Given the description of an element on the screen output the (x, y) to click on. 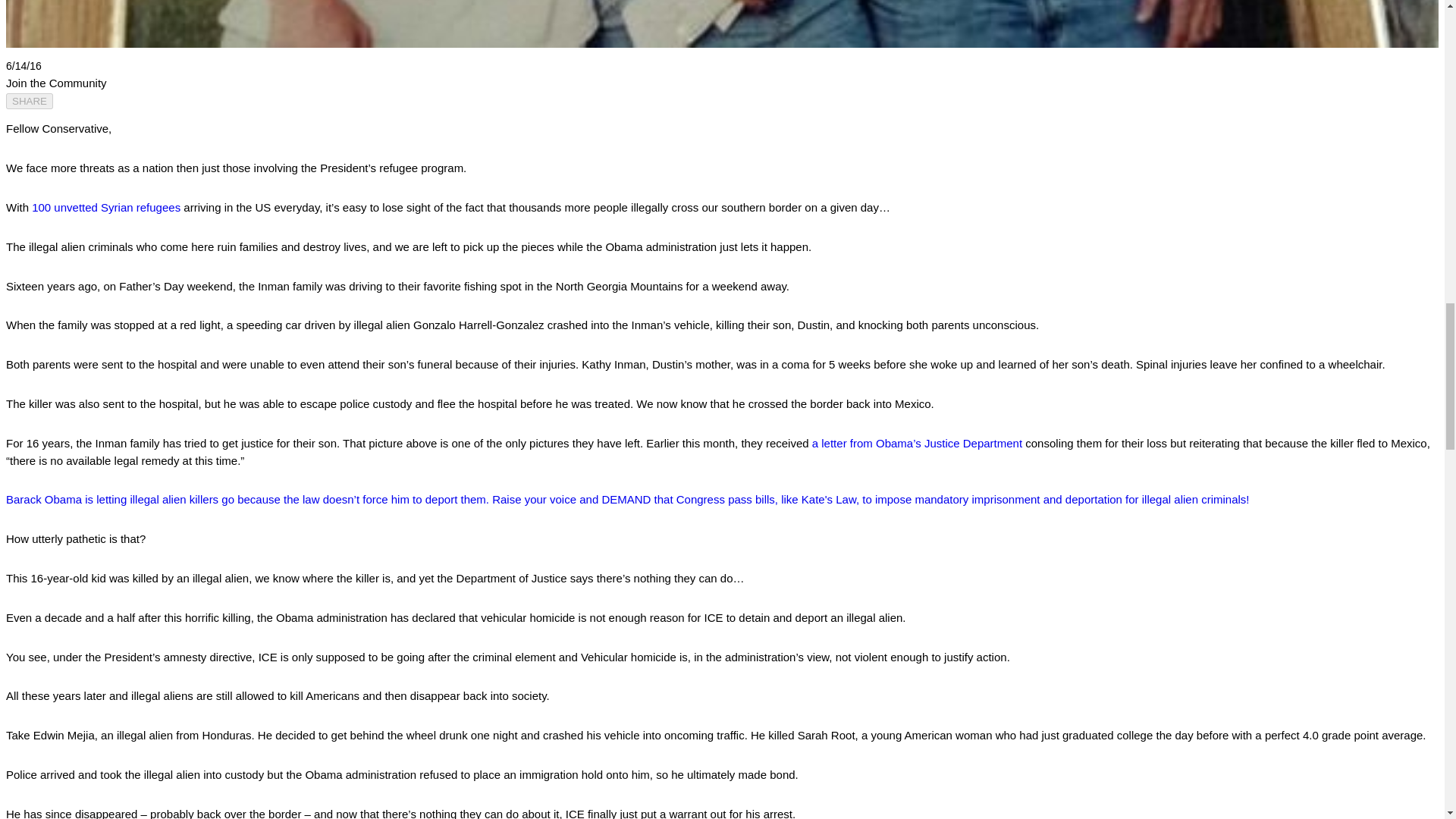
SHARE (28, 100)
100 unvetted Syrian refugees (106, 206)
Join the Community (55, 82)
